Given the description of an element on the screen output the (x, y) to click on. 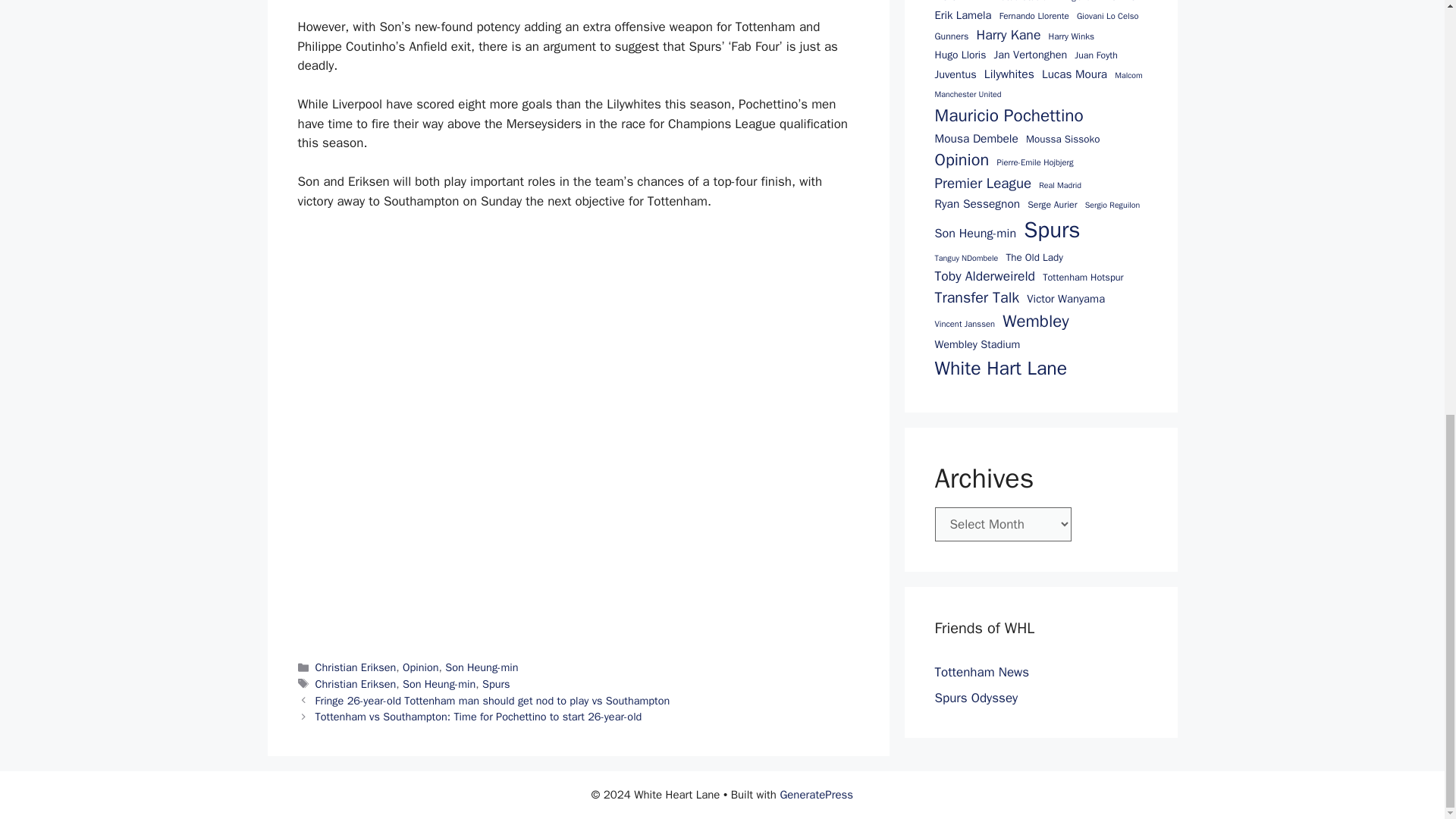
Opinion (421, 667)
Eric Dier (1118, 2)
Fernando Llorente (1033, 16)
Giovani Lo Celso (1107, 15)
Son Heung-min (481, 667)
Christian Eriksen (355, 667)
Erik Lamela (962, 14)
Emirates Stadium (1018, 2)
Dele Alli (954, 2)
Christian Eriksen (355, 684)
Spurs (496, 684)
England (1076, 2)
Son Heung-min (439, 684)
